Given the description of an element on the screen output the (x, y) to click on. 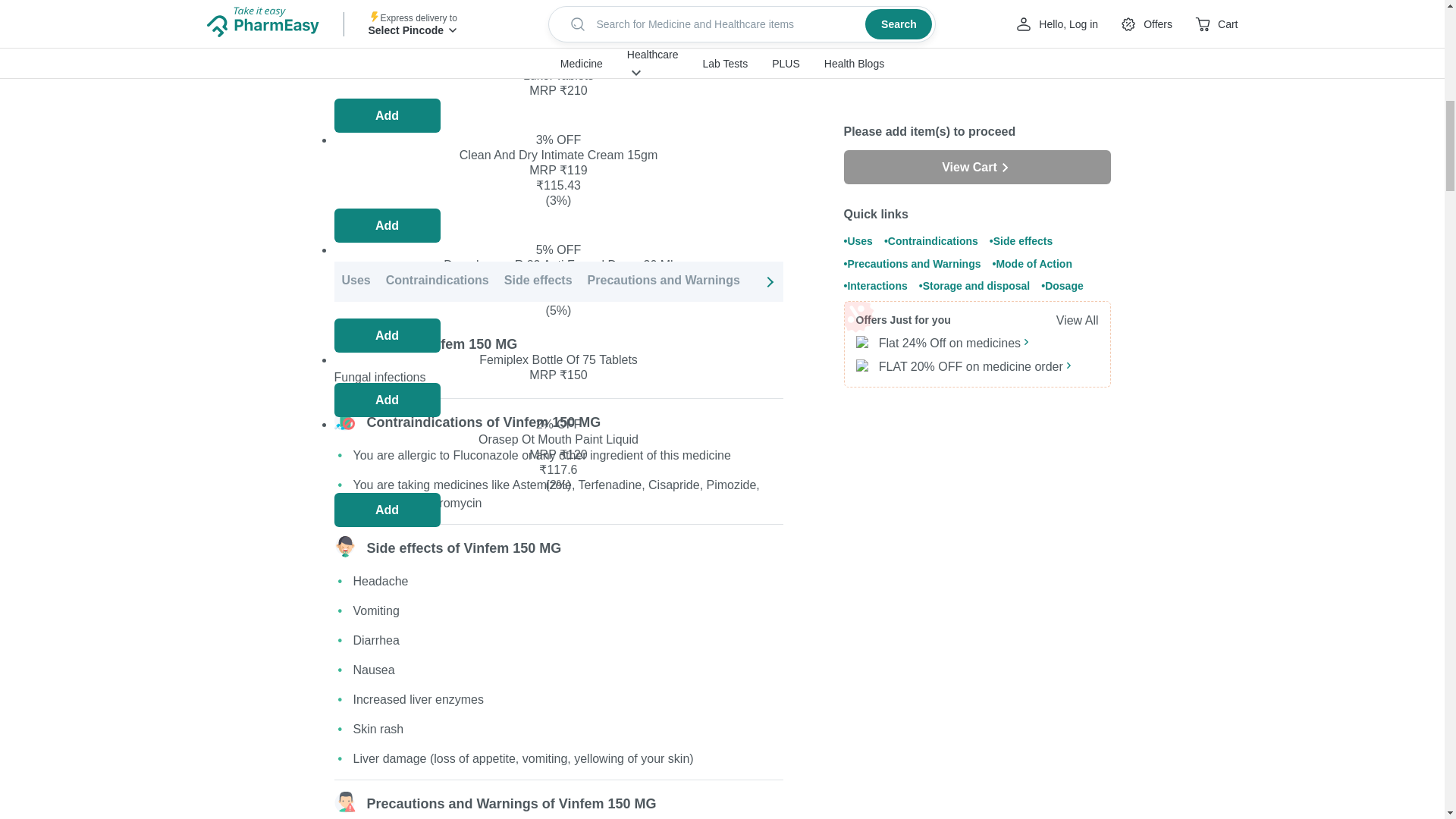
Add (386, 335)
Add (386, 399)
Add (386, 225)
Add (386, 115)
Storage and disposal (1002, 281)
Contraindications (437, 281)
Dosage (1101, 281)
Side effects (537, 281)
Add (386, 510)
Mode of Action (799, 281)
